Given the description of an element on the screen output the (x, y) to click on. 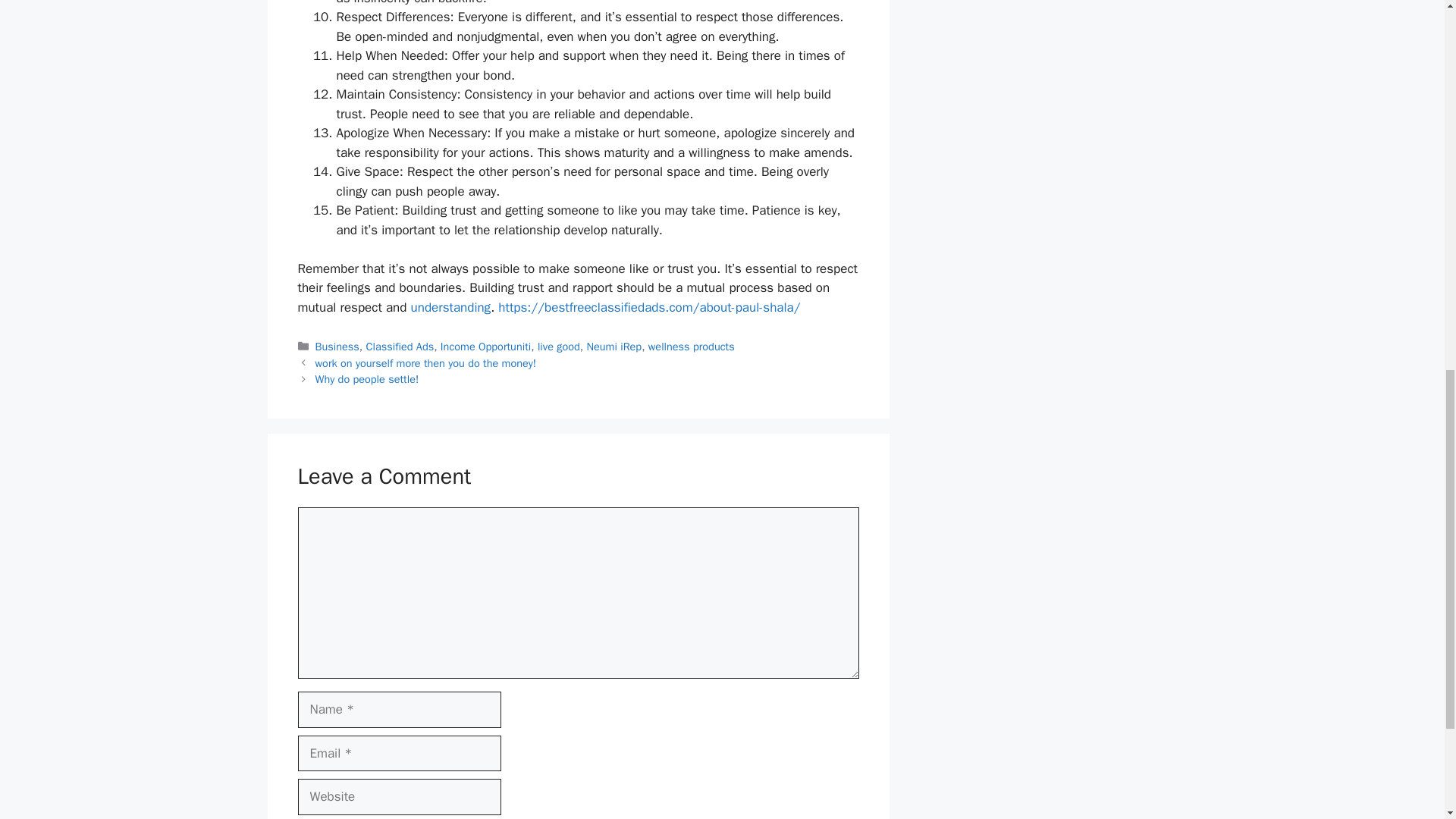
Business (337, 345)
Income Opportuniti (486, 345)
wellness products (691, 345)
understanding (451, 307)
Why do people settle! (367, 378)
Scroll back to top (1406, 720)
Neumi iRep (614, 345)
work on yourself more then you do the money! (426, 363)
Classified Ads (399, 345)
live good (558, 345)
